Given the description of an element on the screen output the (x, y) to click on. 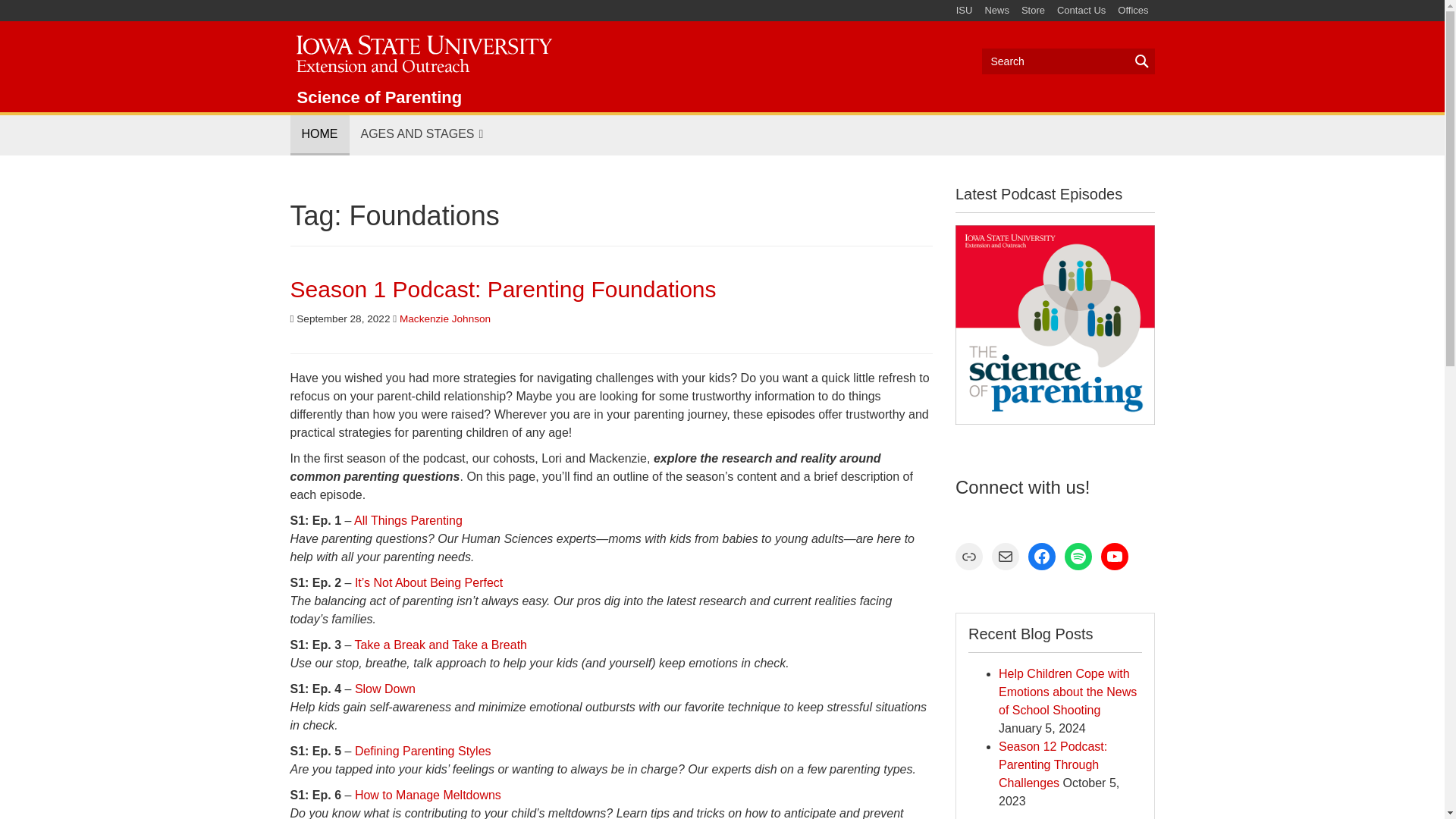
Offices (1133, 10)
ISU (964, 10)
Search (1067, 61)
Home (421, 50)
Iowa State University Extension and Outreach (421, 50)
Science of Parenting (380, 97)
HOME (319, 135)
Posted On (339, 318)
Store (1032, 10)
Contact Us (1081, 10)
News (996, 10)
